Given the description of an element on the screen output the (x, y) to click on. 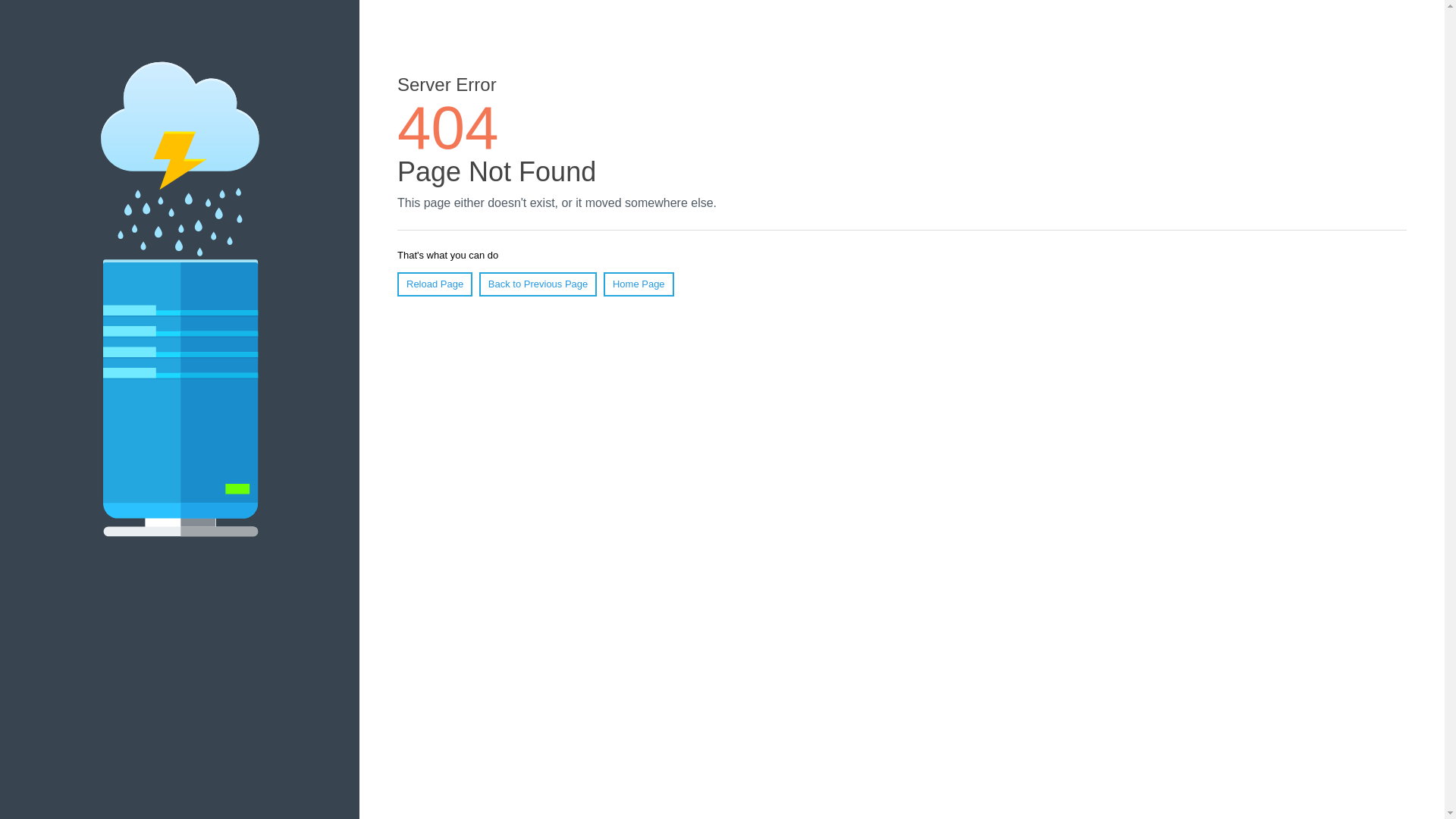
Reload Page Element type: text (434, 284)
Home Page Element type: text (638, 284)
Back to Previous Page Element type: text (538, 284)
